Given the description of an element on the screen output the (x, y) to click on. 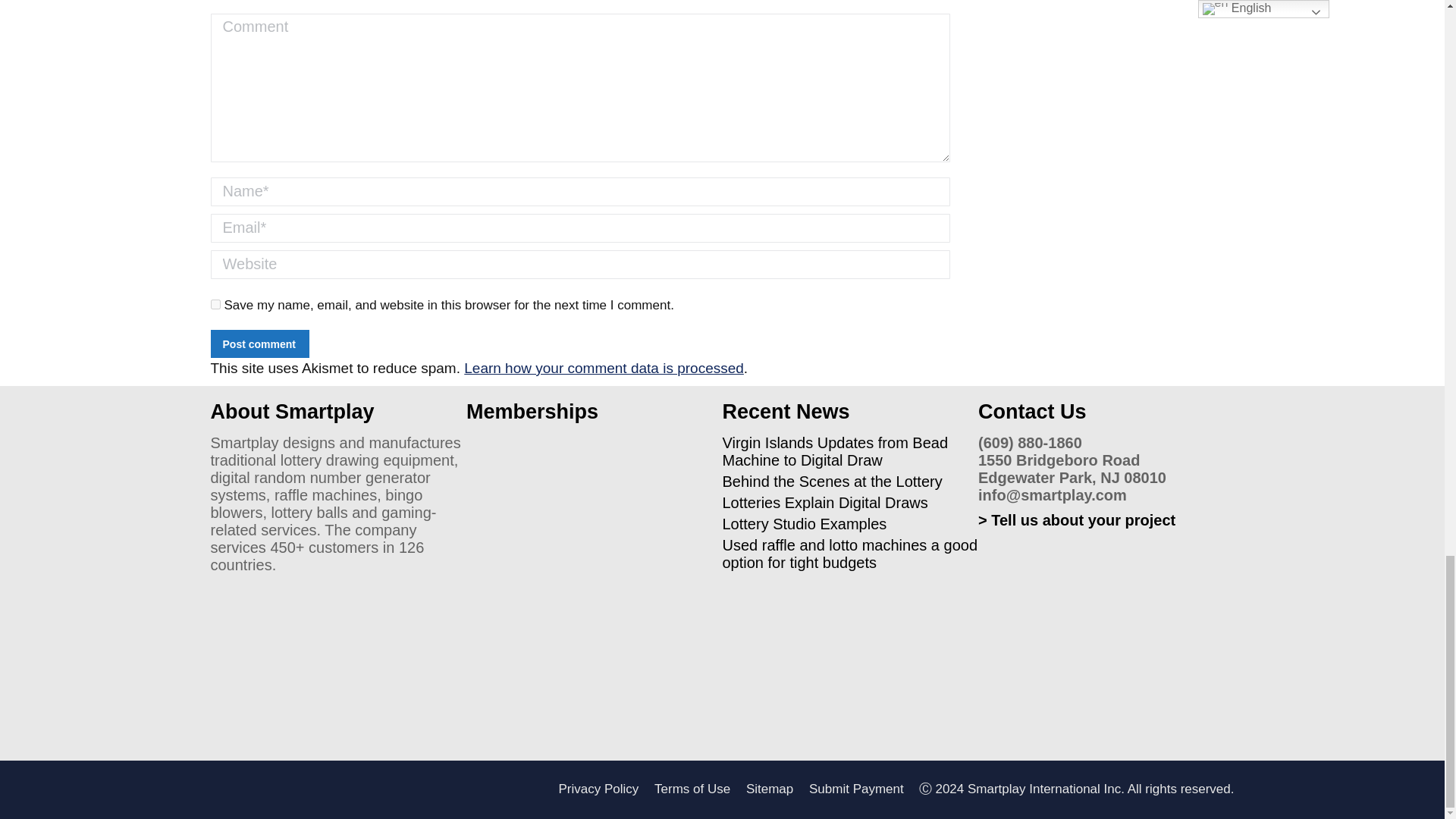
yes (216, 303)
